Given the description of an element on the screen output the (x, y) to click on. 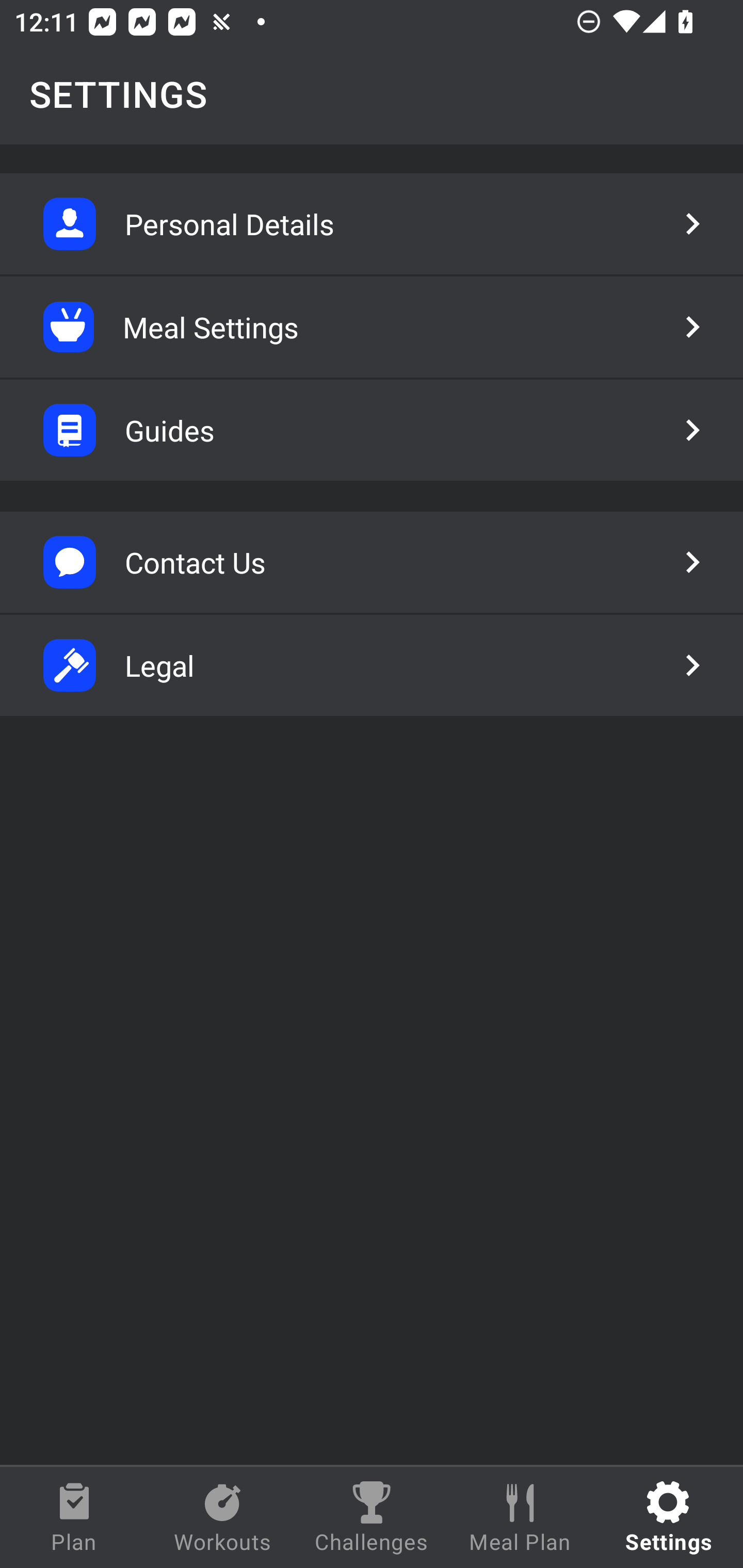
Personal Details (371, 224)
Meal Settings (371, 326)
Guides (371, 430)
Contact Us (371, 562)
Legal (371, 665)
 Plan  (74, 1517)
 Workouts  (222, 1517)
 Challenges  (371, 1517)
 Meal Plan  (519, 1517)
